Given the description of an element on the screen output the (x, y) to click on. 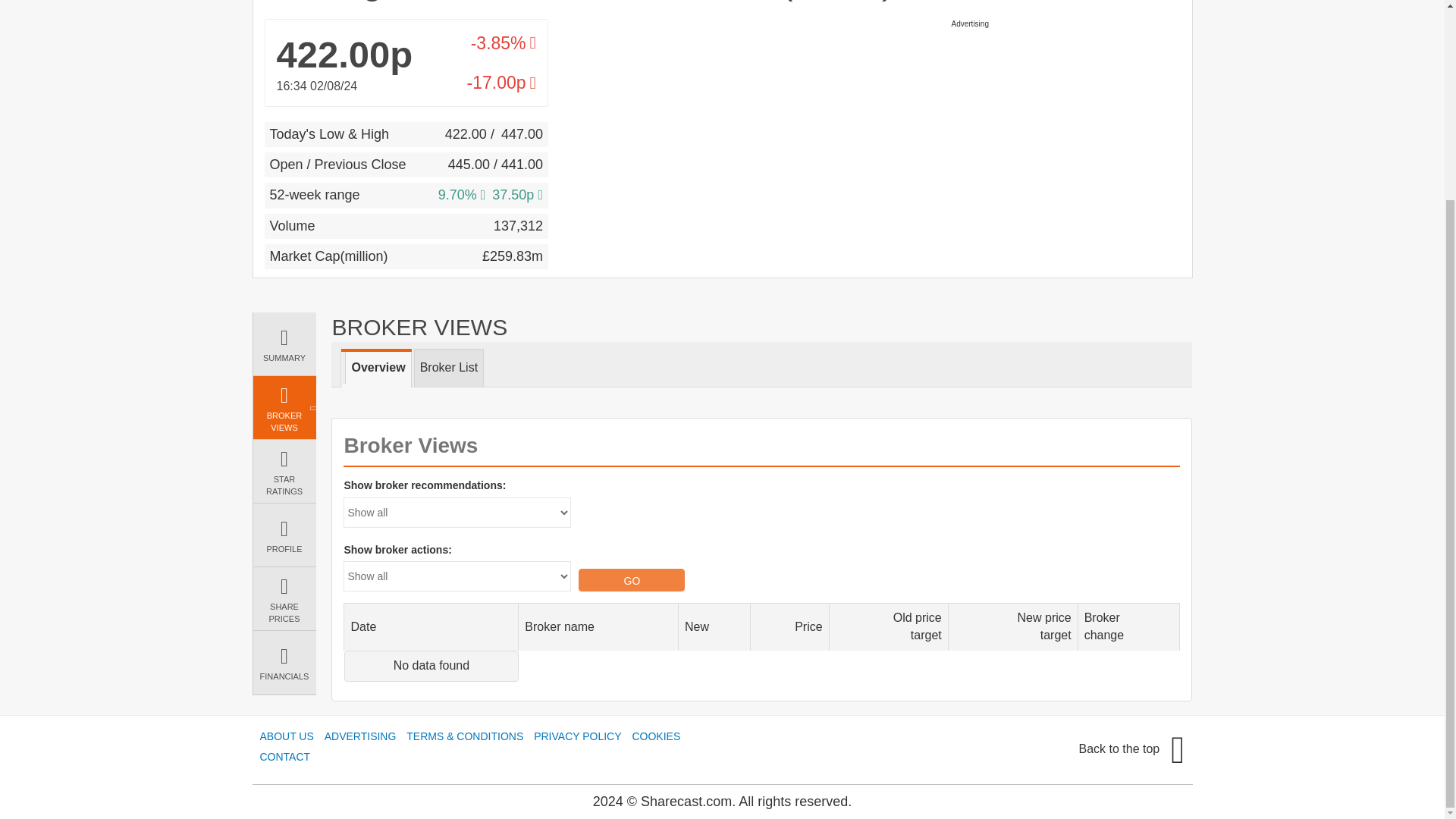
GO (631, 579)
